Given the description of an element on the screen output the (x, y) to click on. 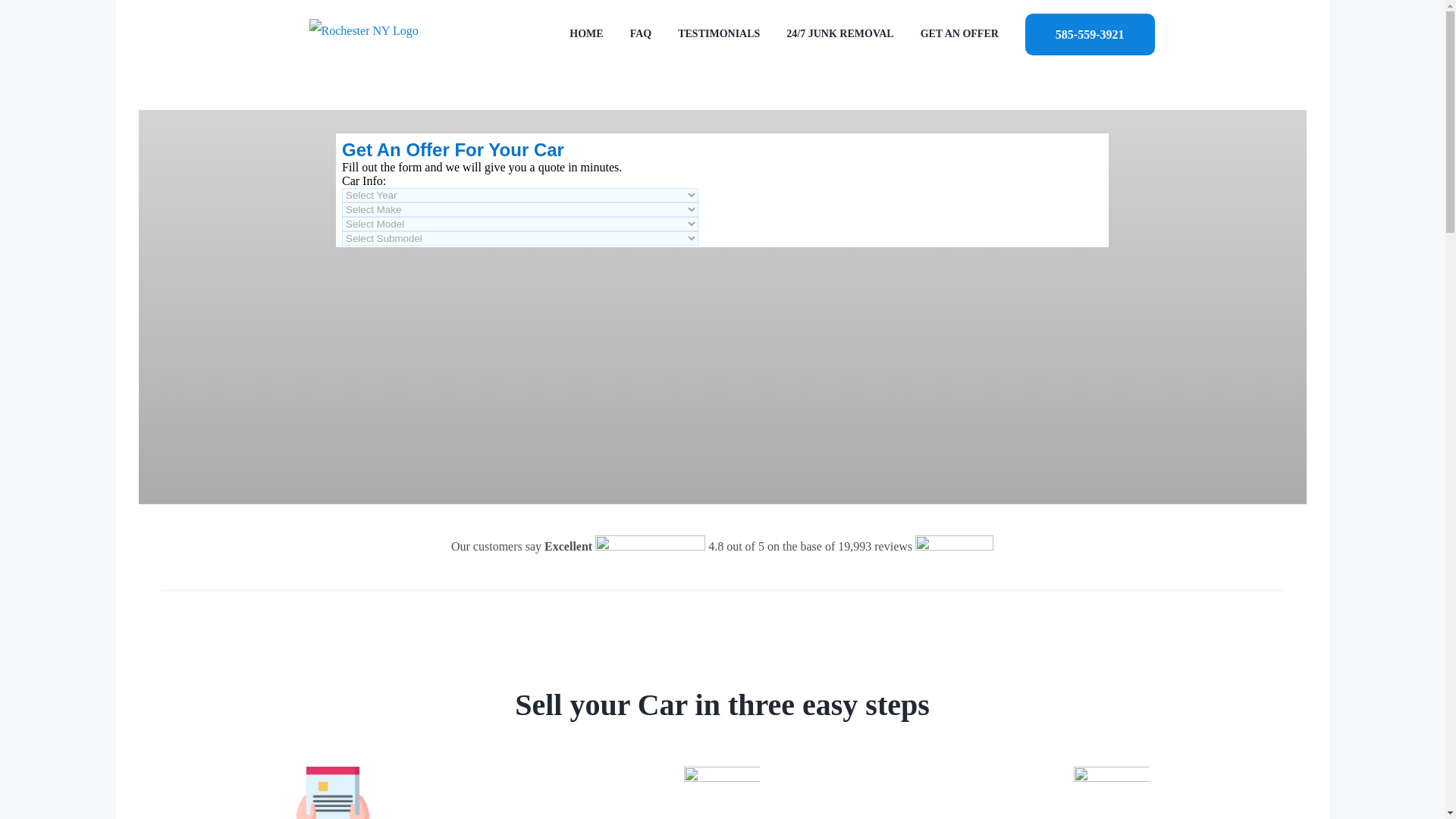
585-559-3921 (1089, 33)
GET AN OFFER (959, 33)
TESTIMONIALS (719, 33)
